Given the description of an element on the screen output the (x, y) to click on. 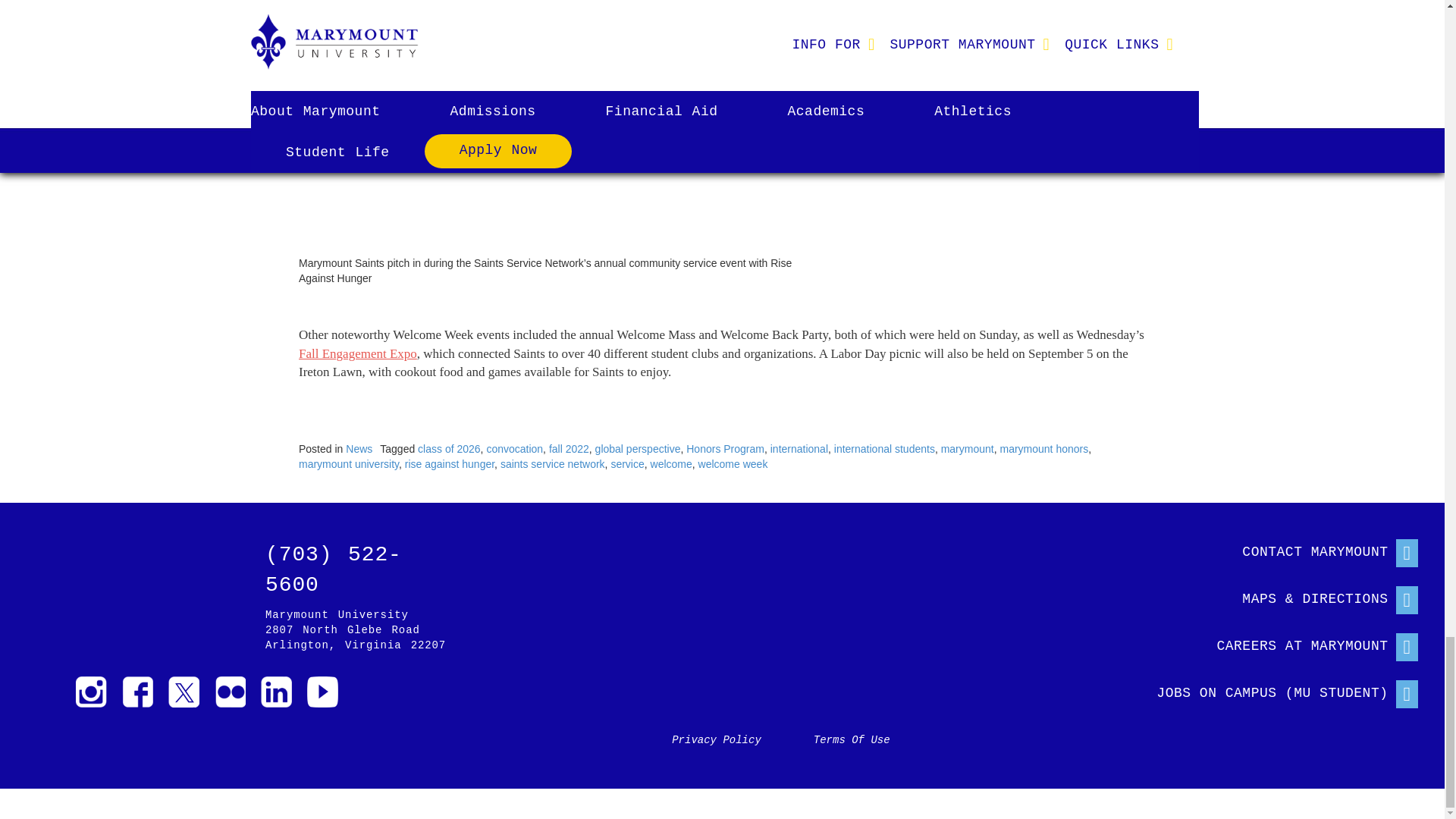
Careers at MU (1271, 643)
instagram (90, 691)
facebook (137, 691)
Contact Us (1271, 549)
linkedin (276, 691)
flickr (230, 691)
Youtube (322, 691)
twitter (183, 691)
